Given the description of an element on the screen output the (x, y) to click on. 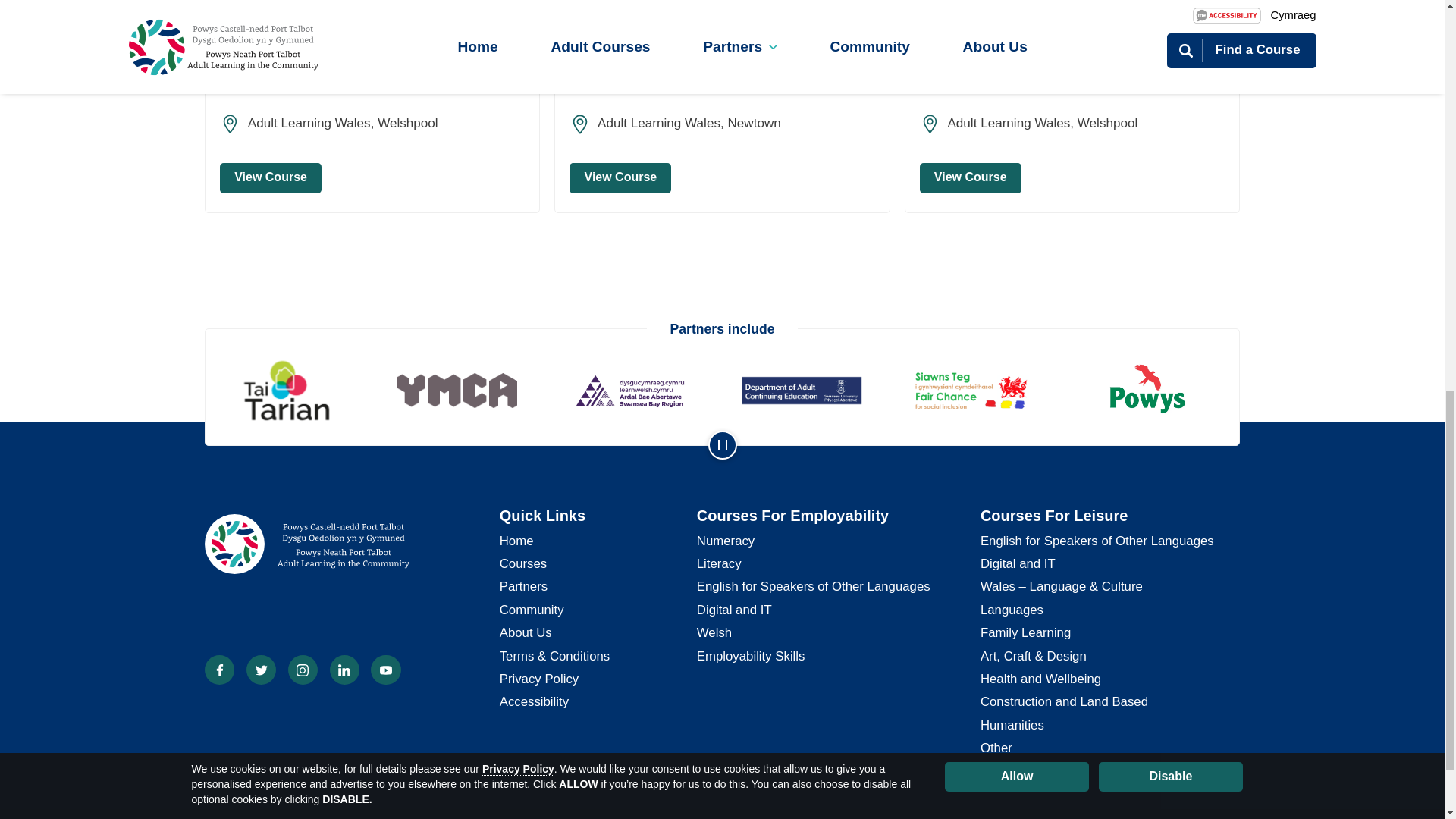
Link to Powys (1152, 390)
Link to YMCA (463, 390)
Link to Tai Tarian (291, 390)
Link to Ardal Bae Abertawe (636, 390)
Link to Fair Chance (980, 390)
Link to Department of Adult Continuing Edication (807, 390)
